Given the description of an element on the screen output the (x, y) to click on. 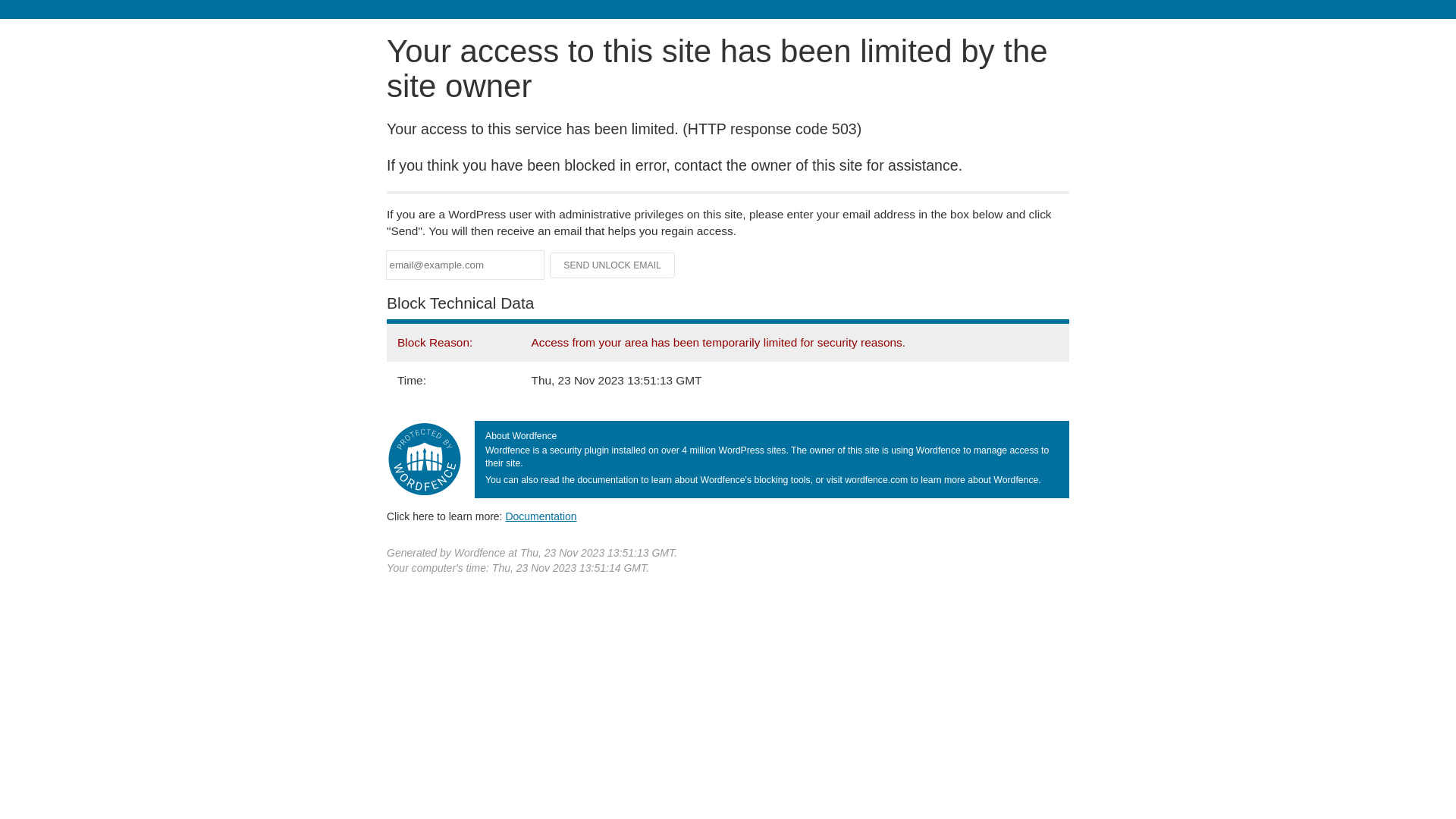
Send Unlock Email Element type: text (612, 265)
Documentation Element type: text (540, 516)
